Given the description of an element on the screen output the (x, y) to click on. 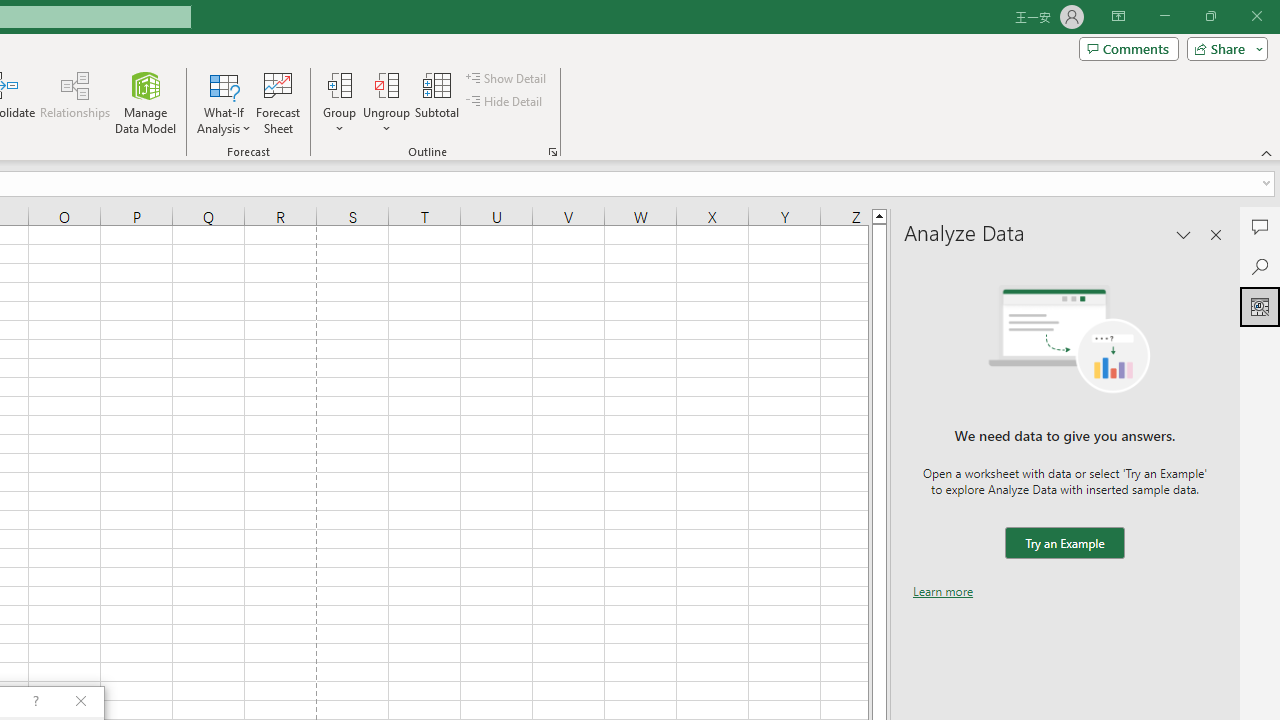
Manage Data Model (145, 102)
We need data to give you answers. Try an Example (1064, 543)
Subtotal (437, 102)
What-If Analysis (223, 102)
